Given the description of an element on the screen output the (x, y) to click on. 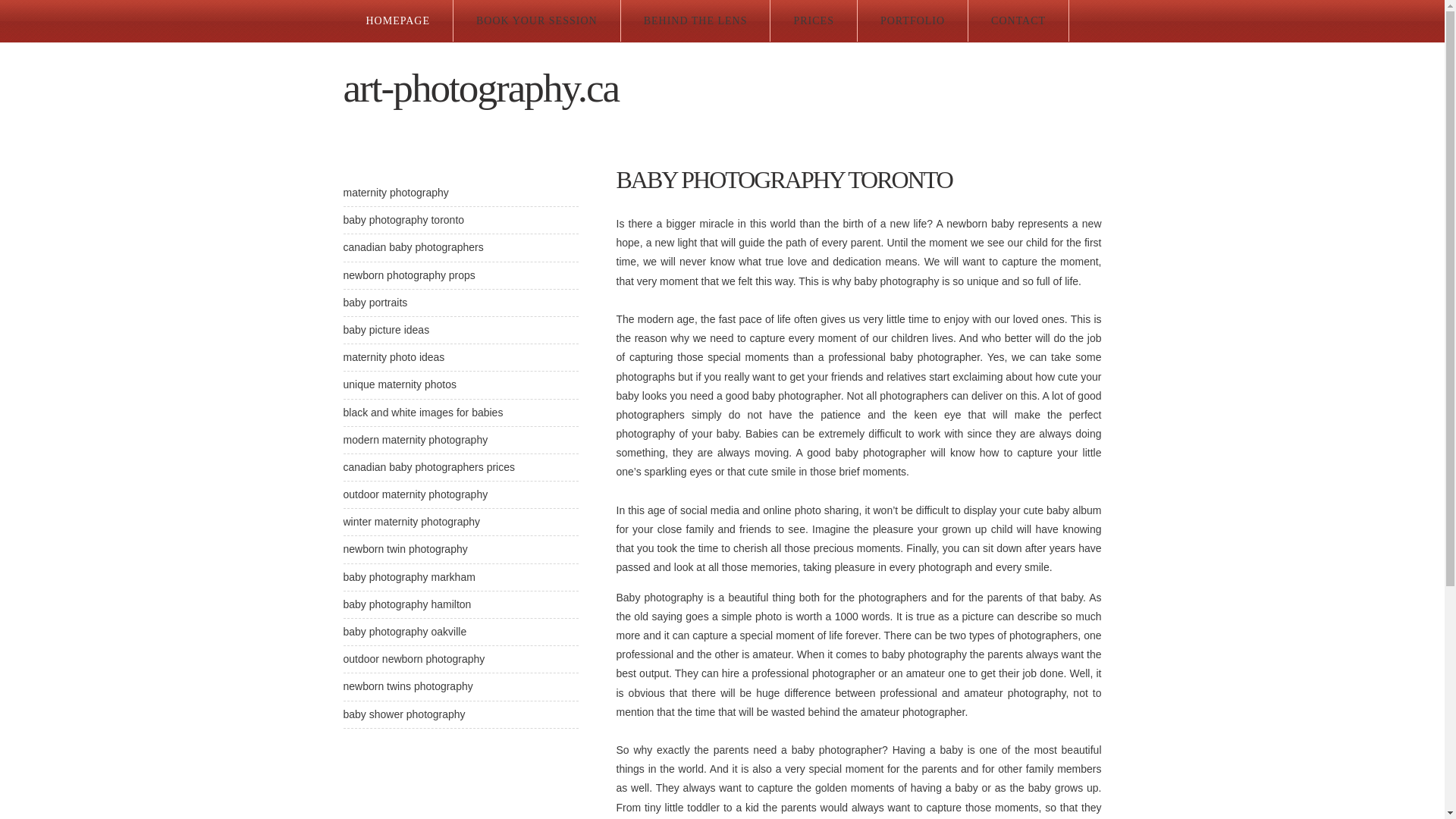
newborn twin photography Element type: text (404, 548)
maternity photography Element type: text (395, 192)
baby photography markham Element type: text (408, 577)
PORTFOLIO Element type: text (912, 20)
baby picture ideas Element type: text (385, 329)
BOOK YOUR SESSION Element type: text (536, 20)
art-photography.ca Element type: text (480, 87)
HOMEPAGE Element type: text (397, 20)
baby photography toronto Element type: text (403, 219)
baby shower photography Element type: text (403, 714)
baby portraits Element type: text (374, 302)
outdoor newborn photography Element type: text (413, 658)
CONTACT Element type: text (1018, 20)
black and white images for babies Element type: text (422, 412)
baby photography hamilton Element type: text (406, 604)
canadian baby photographers Element type: text (412, 247)
BEHIND THE LENS Element type: text (695, 20)
PRICES Element type: text (813, 20)
unique maternity photos Element type: text (398, 384)
winter maternity photography Element type: text (411, 521)
outdoor maternity photography Element type: text (414, 494)
maternity photo ideas Element type: text (393, 357)
BABY PHOTOGRAPHY TORONTO Element type: text (783, 179)
newborn photography props Element type: text (408, 275)
baby photography oakville Element type: text (404, 631)
canadian baby photographers prices Element type: text (428, 467)
modern maternity photography Element type: text (414, 439)
newborn twins photography Element type: text (407, 686)
